Given the description of an element on the screen output the (x, y) to click on. 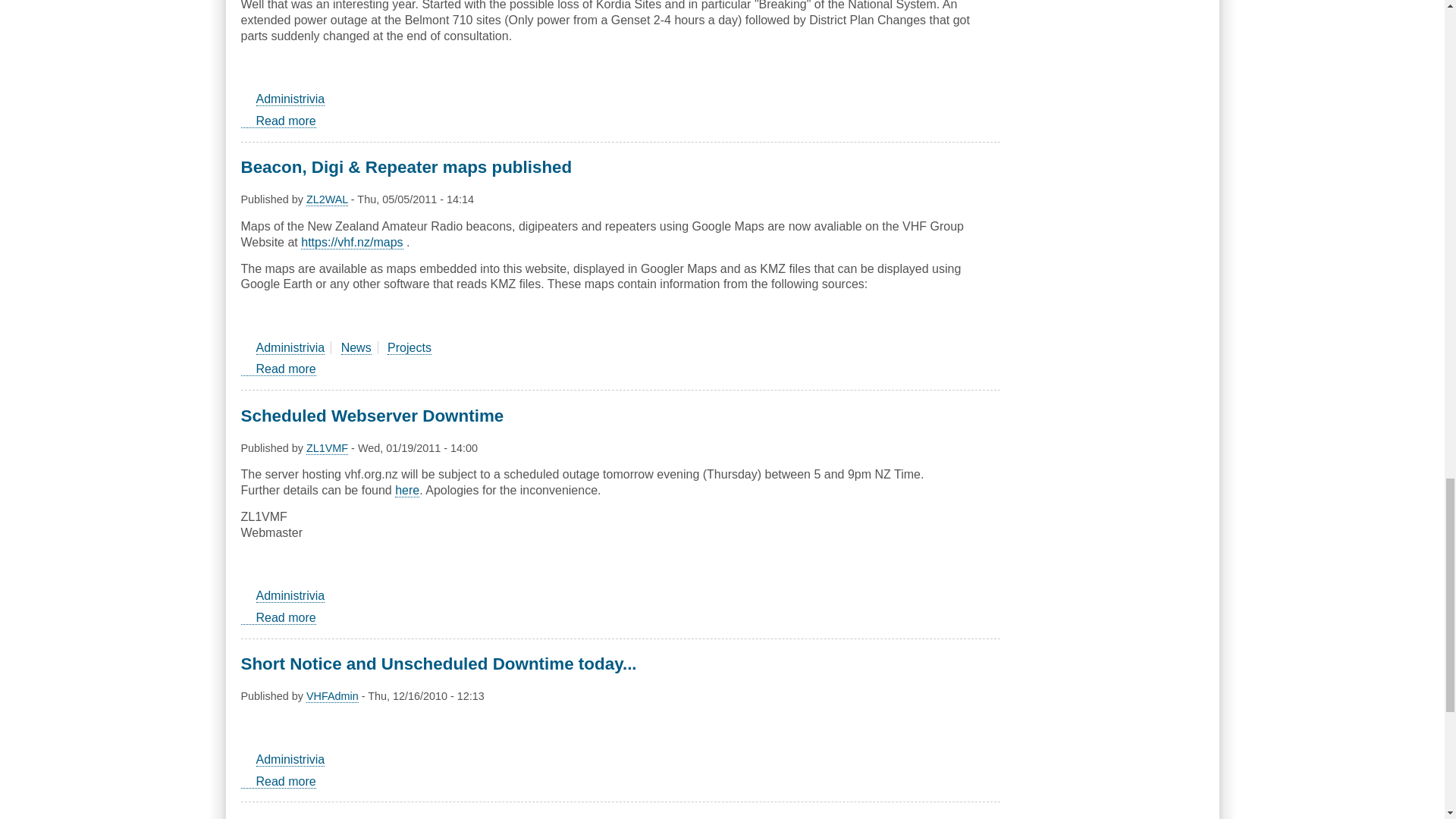
Administrivia (290, 99)
